Given the description of an element on the screen output the (x, y) to click on. 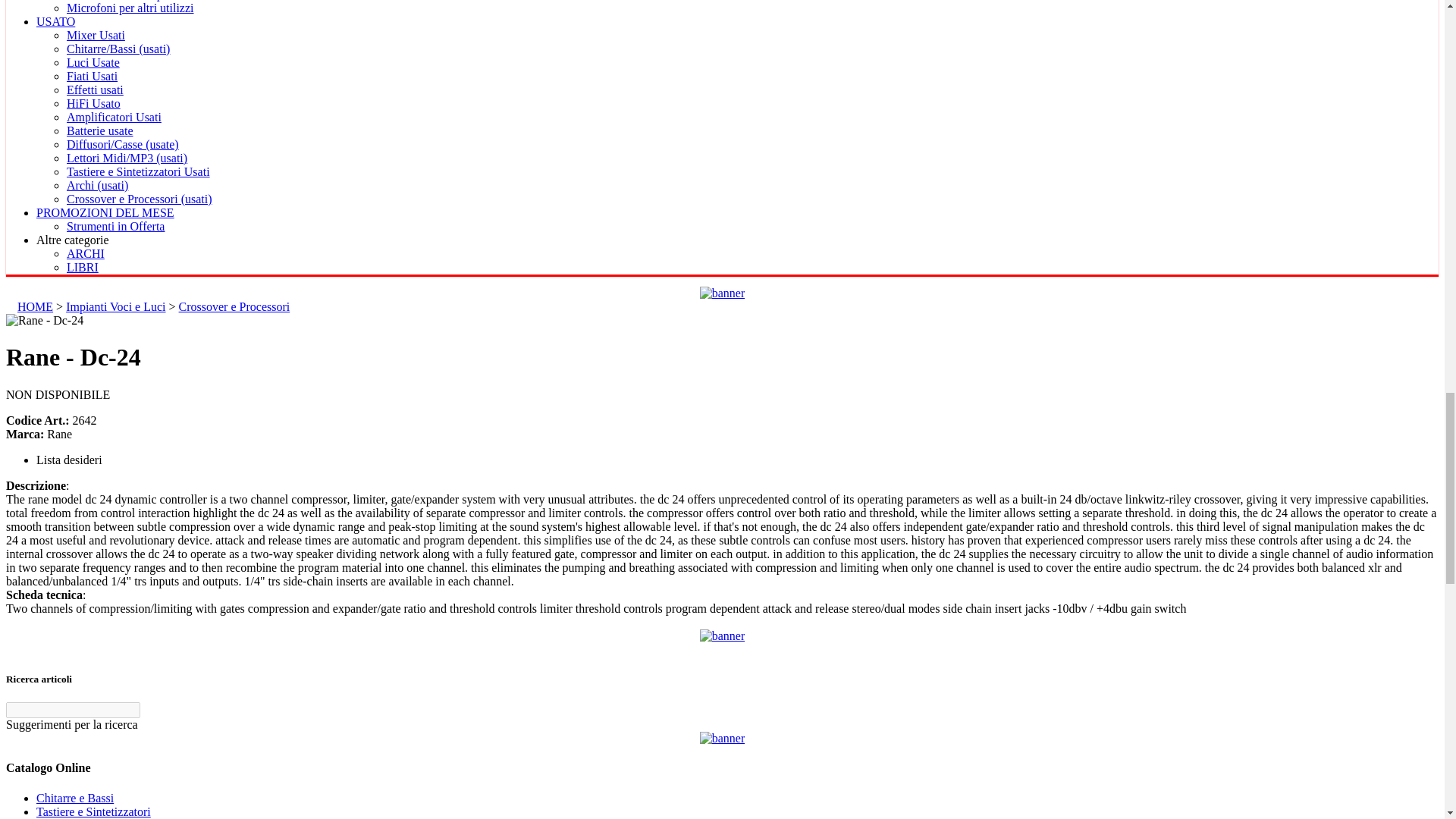
Rane - Dc-24 (43, 320)
